Given the description of an element on the screen output the (x, y) to click on. 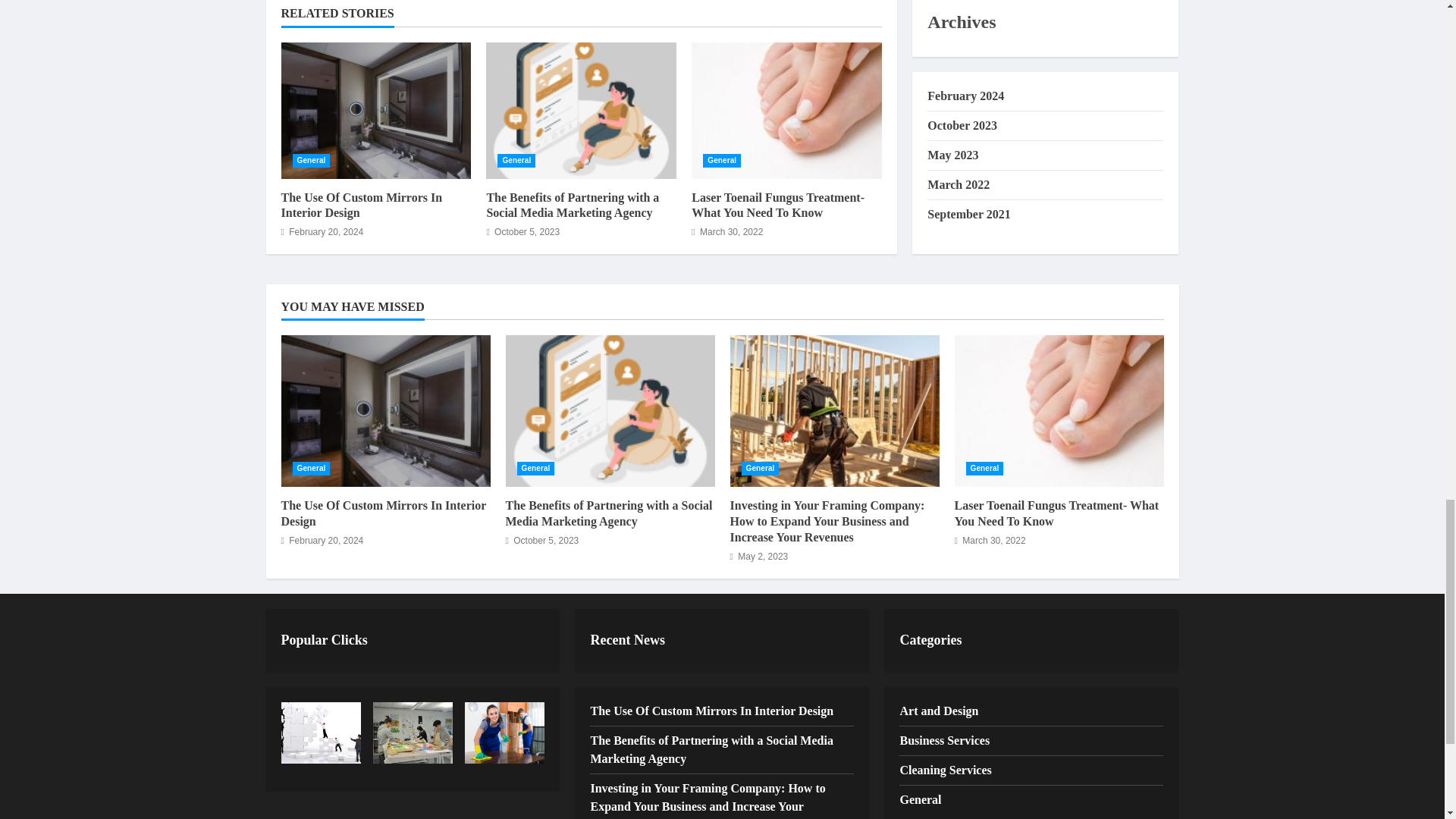
General (311, 160)
Laser Toenail Fungus Treatment- What You Need To Know (777, 205)
Laser Toenail Fungus Treatment- What You Need To Know (786, 110)
General (722, 160)
The Use Of Custom Mirrors In Interior Design (361, 205)
General (516, 160)
The Use Of Custom Mirrors In Interior Design (375, 110)
